Given the description of an element on the screen output the (x, y) to click on. 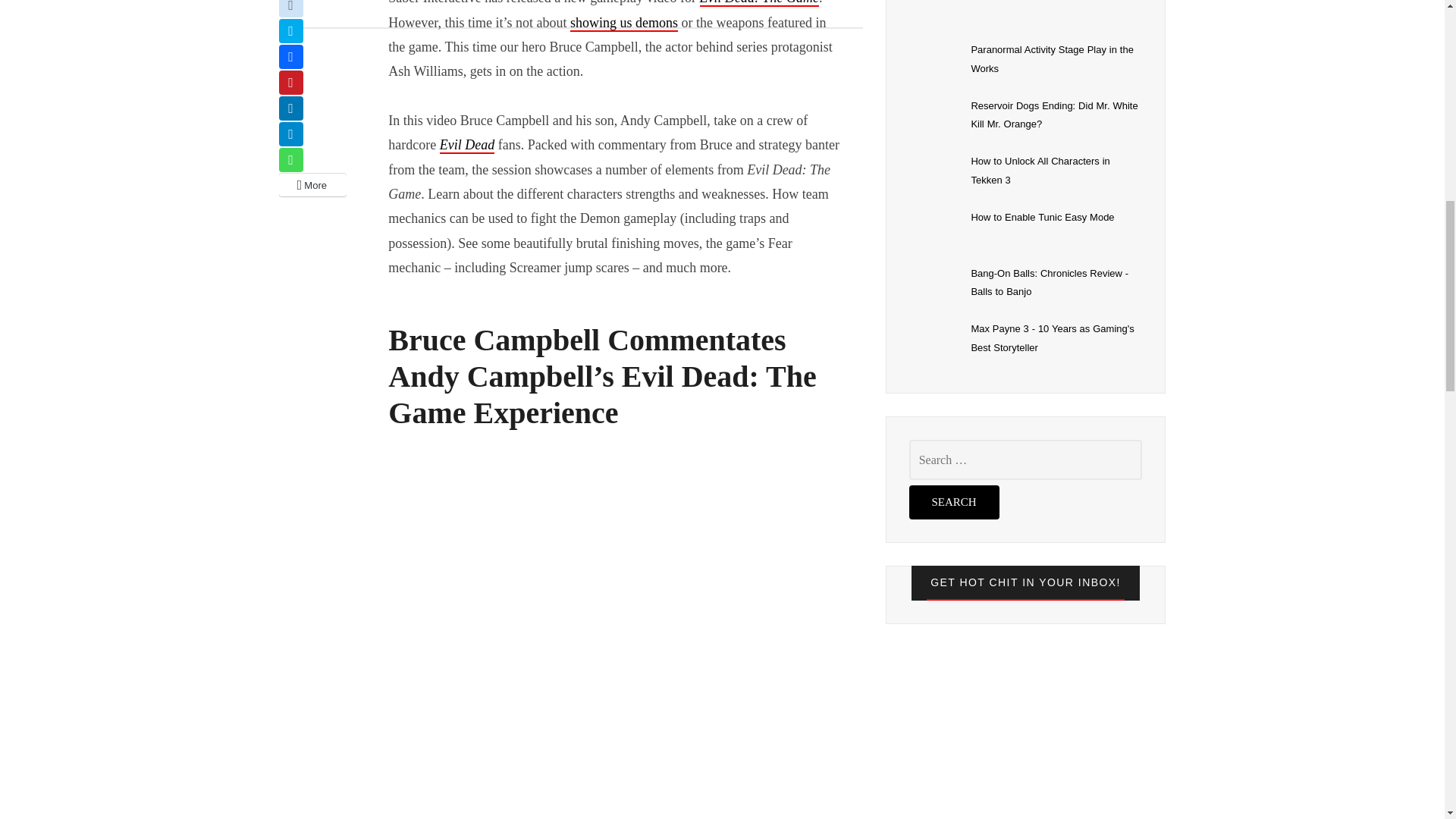
Click to share on Facebook (290, 56)
Click to share on WhatsApp (290, 159)
Evil Dead: The Game (759, 3)
Search (953, 502)
Click to share on Twitter (290, 30)
Click to share on Reddit (290, 8)
More (313, 184)
Click to share on LinkedIn (290, 108)
showing us demons (624, 23)
Search (953, 502)
Click to share on Telegram (290, 134)
Evil Dead (467, 145)
Click to share on Pinterest (290, 82)
